Given the description of an element on the screen output the (x, y) to click on. 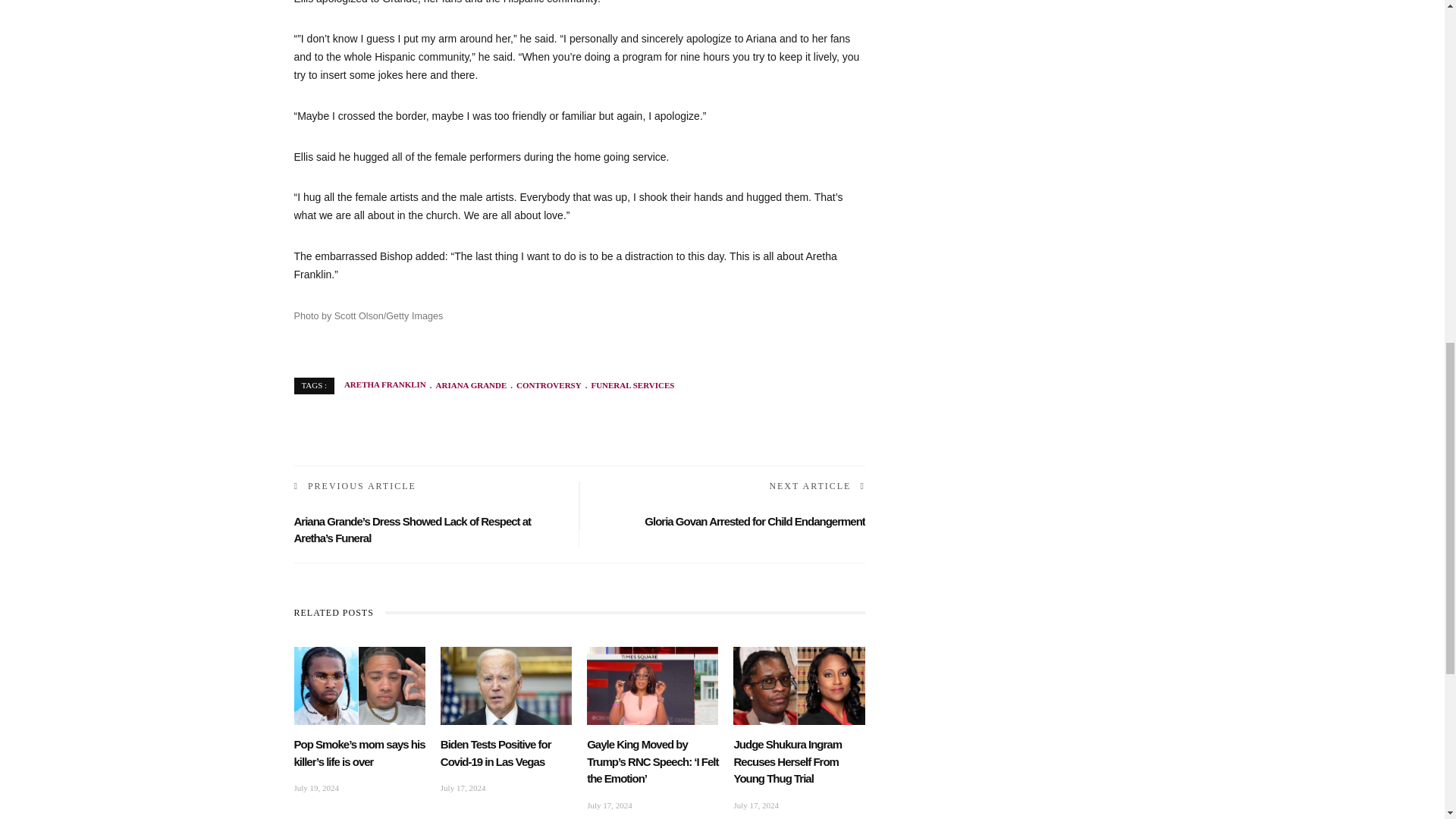
ARETHA FRANKLIN (384, 384)
Judge Shukura Ingram Recuses Herself From Young Thug Trial (798, 684)
FUNERAL SERVICES (627, 384)
Judge Shukura Ingram Recuses Herself From Young Thug Trial (787, 760)
Biden Tests Positive for Covid-19 in Las Vegas (506, 684)
ARIANA GRANDE (466, 384)
Gloria Govan Arrested for Child Endangerment (754, 521)
Biden Tests Positive for Covid-19 in Las Vegas (496, 752)
CONTROVERSY (543, 384)
